Given the description of an element on the screen output the (x, y) to click on. 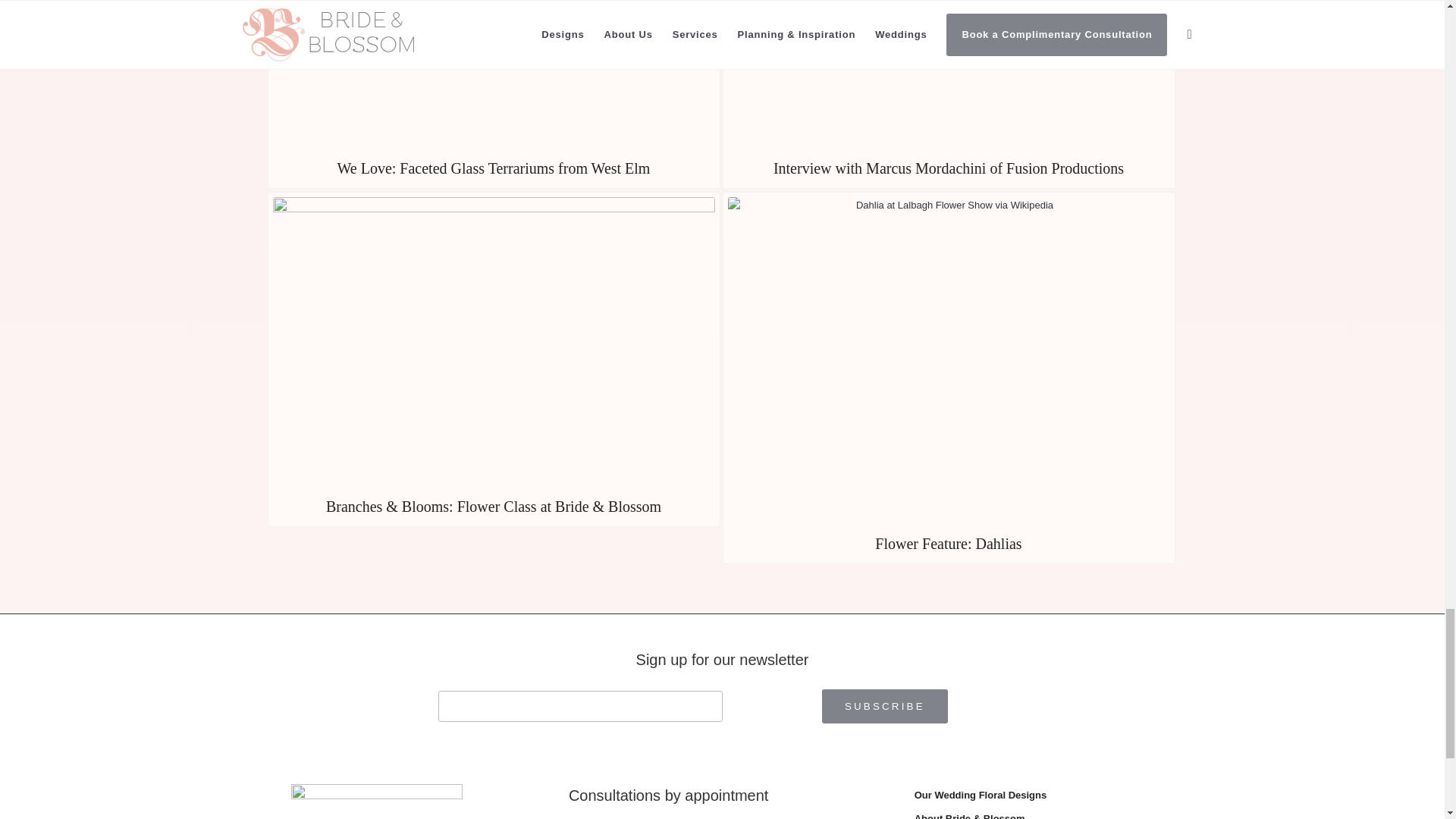
Interview with Marcus Mordachini of Fusion Productions (948, 94)
Interview with Marcus Mordachini of Fusion Productions (948, 94)
We Love: Faceted Glass Terrariums from West Elm (492, 94)
We Love: Faceted Glass Terrariums from West Elm (492, 94)
Subscribe (884, 706)
Subscribe (884, 706)
West Elm terrarium box (493, 76)
